Given the description of an element on the screen output the (x, y) to click on. 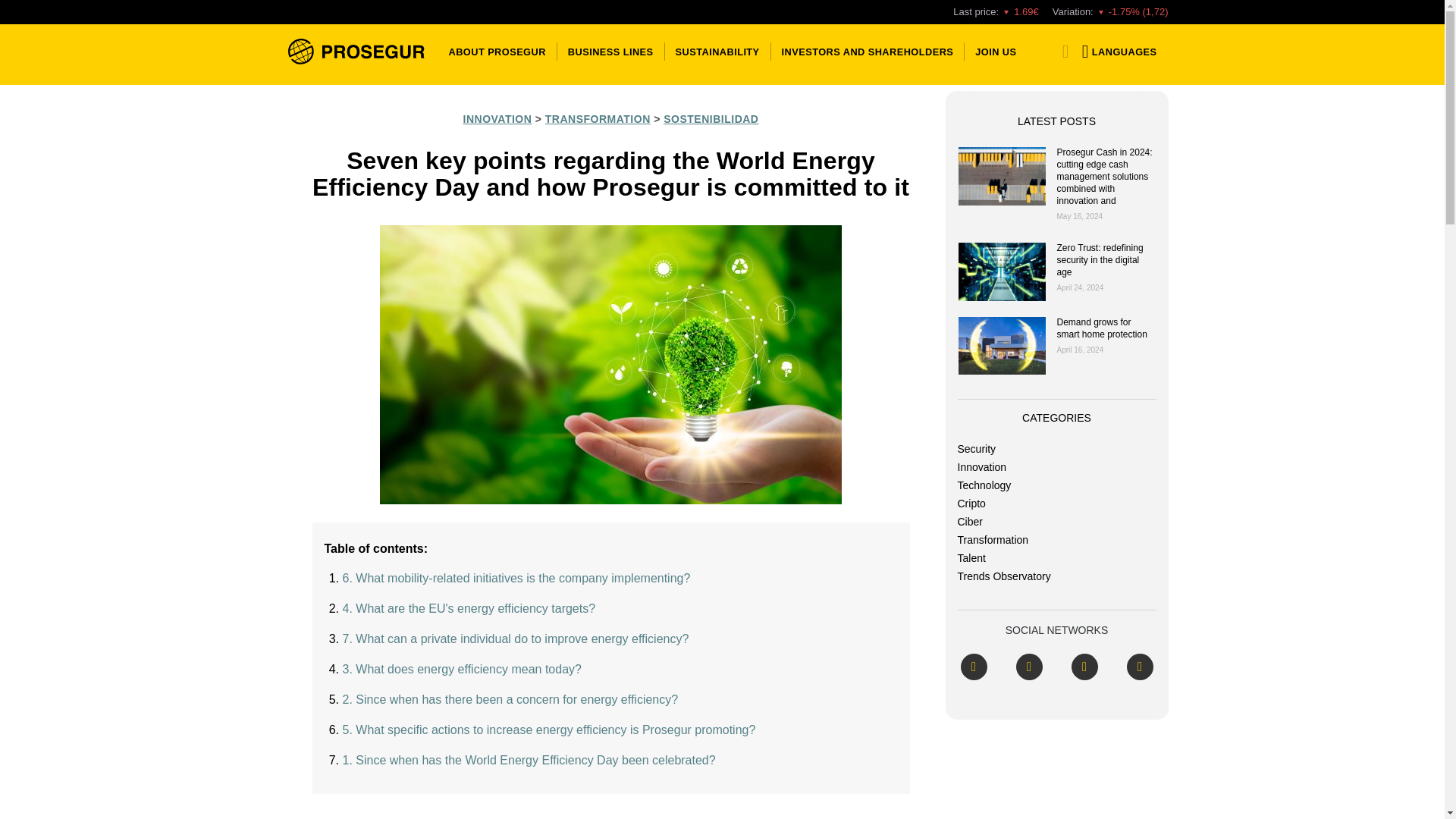
LANGUAGES (1116, 51)
INVESTORS AND SHAREHOLDERS (867, 51)
ABOUT PROSEGUR (496, 51)
Zero Trust: redefining security in the digital age (1001, 271)
JOIN US (992, 51)
Demand grows for smart home protection (1001, 345)
SUSTAINABILITY (717, 51)
BUSINESS LINES (610, 51)
